Given the description of an element on the screen output the (x, y) to click on. 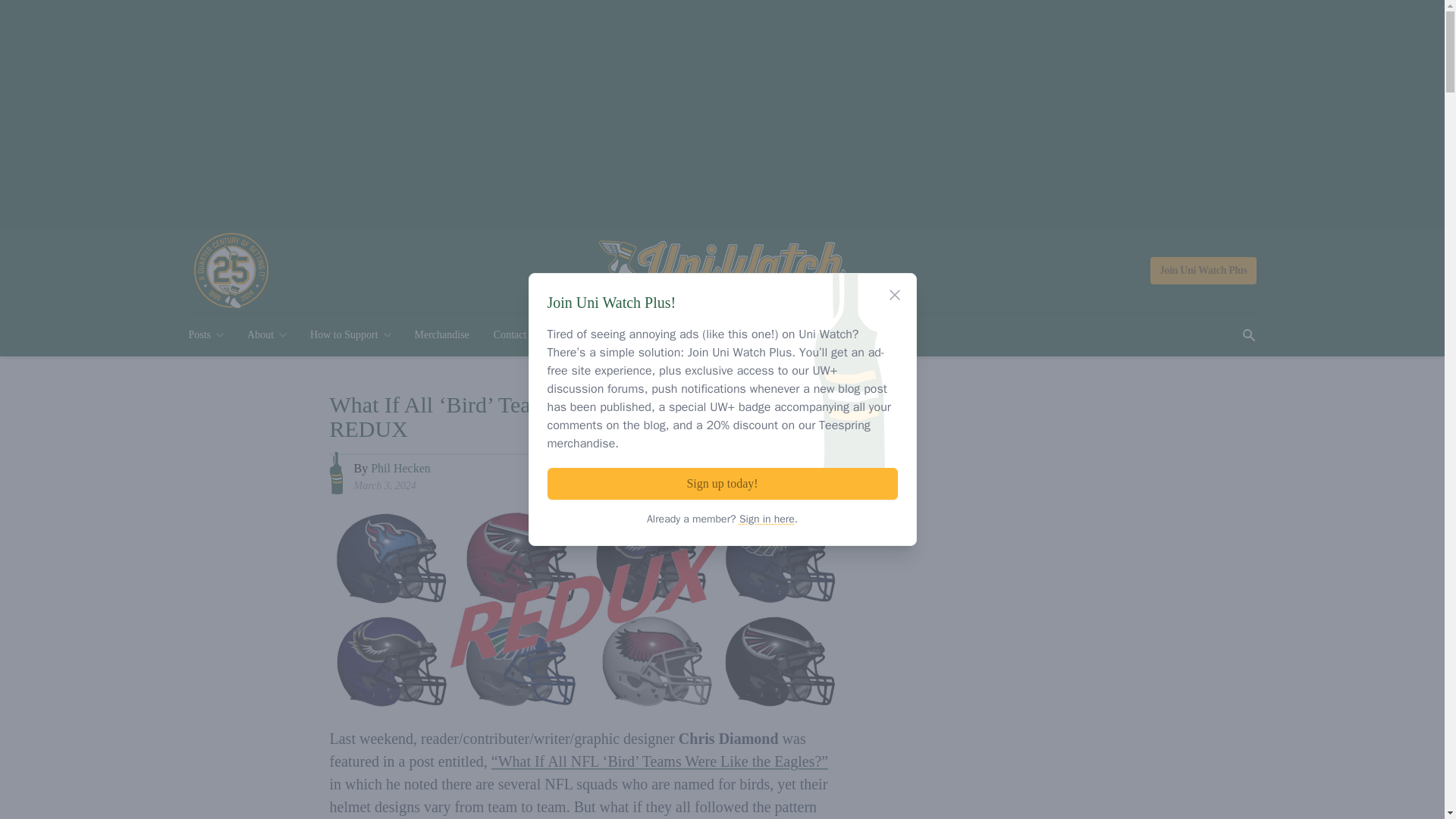
Join Uni Watch Plus (1203, 270)
Sign in here (766, 518)
Share on Facebook (768, 474)
Sign up today! (722, 483)
Close (894, 294)
Uni Watch (721, 270)
Uni Watch (721, 270)
Share on Twitter (796, 474)
